Given the description of an element on the screen output the (x, y) to click on. 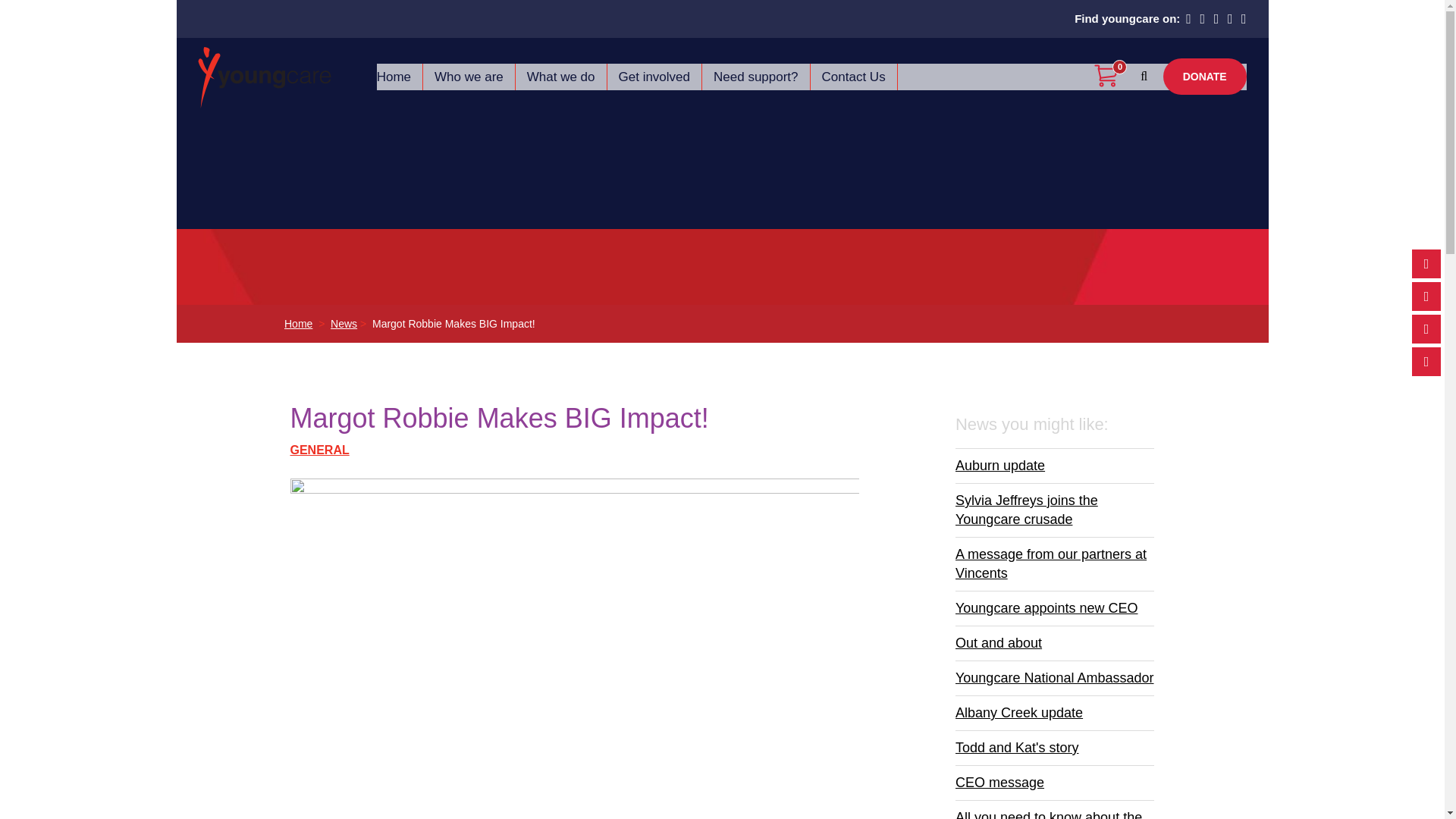
View your shopping cart (1110, 77)
Share on Linkedin (1426, 328)
Who we are (468, 76)
Email to (1426, 361)
Share on Facebook (1426, 263)
Get involved (654, 76)
Home (393, 76)
Share on Twitter (1426, 296)
Youngcare (264, 75)
What we do (561, 76)
